Given the description of an element on the screen output the (x, y) to click on. 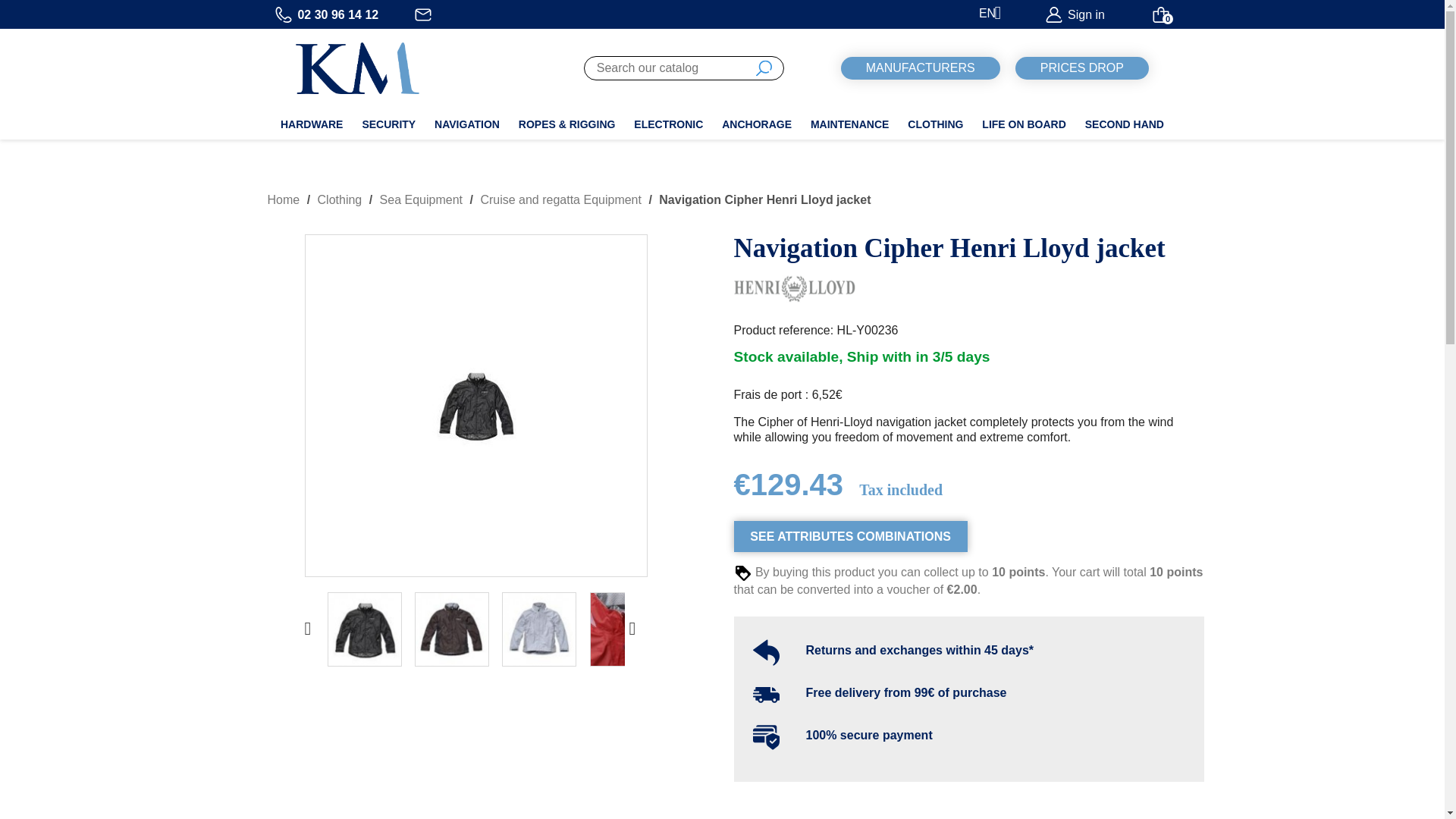
Navigation Cipher Henri Lloyd jacket (539, 629)
MANUFACTURERS (920, 67)
02 30 96 14 12 (327, 13)
Navigation Cipher Henri Lloyd jacket (475, 405)
Navigation Cipher Henri Lloyd jacket (626, 629)
Log in to your customer account (1074, 13)
manufacturers (920, 67)
Sign in (1074, 13)
PRICES DROP (1081, 67)
Navigation Cipher Henri Lloyd jacket (451, 629)
